Given the description of an element on the screen output the (x, y) to click on. 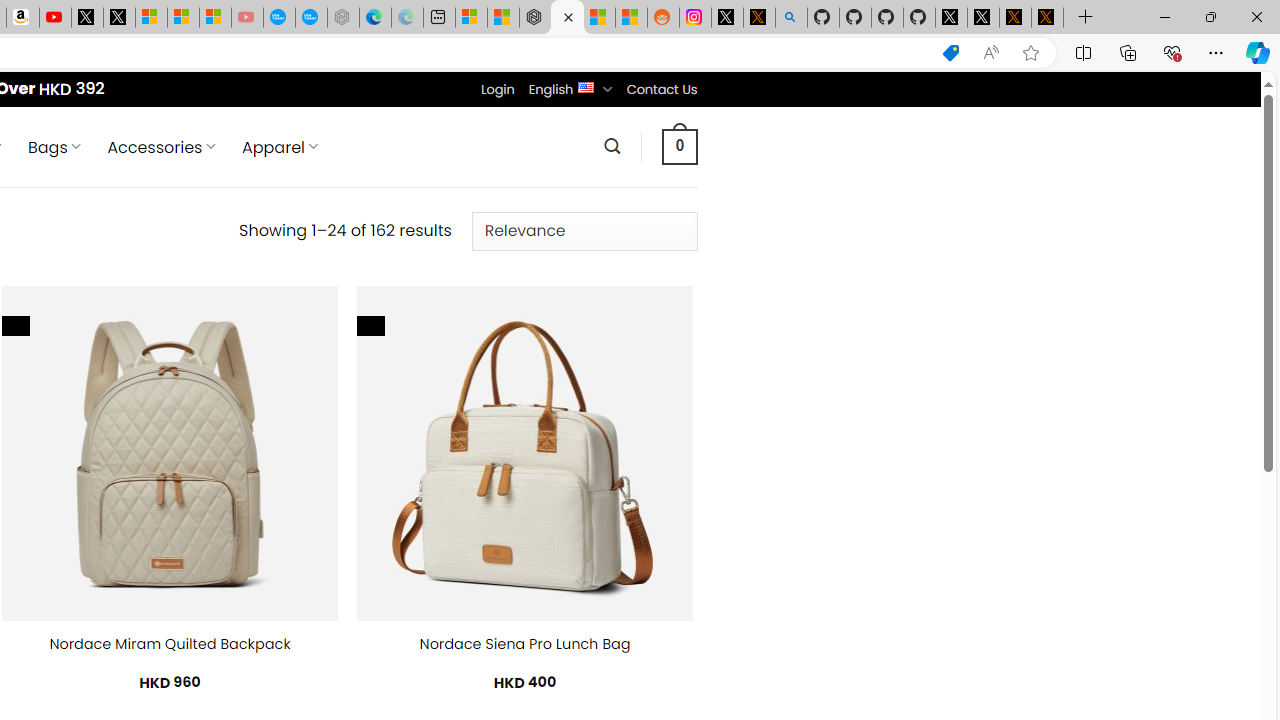
Nordace - Nordace has arrived Hong Kong - Sleeping (343, 17)
Gloom - YouTube - Sleeping (246, 17)
Shanghai, China Weather trends | Microsoft Weather (630, 17)
Opinion: Op-Ed and Commentary - USA TODAY (279, 17)
github - Search (791, 17)
Search (612, 146)
Close tab (568, 16)
Microsoft account | Microsoft Account Privacy Settings (471, 17)
Log in to X / X (727, 17)
help.x.com | 524: A timeout occurred (758, 17)
